Given the description of an element on the screen output the (x, y) to click on. 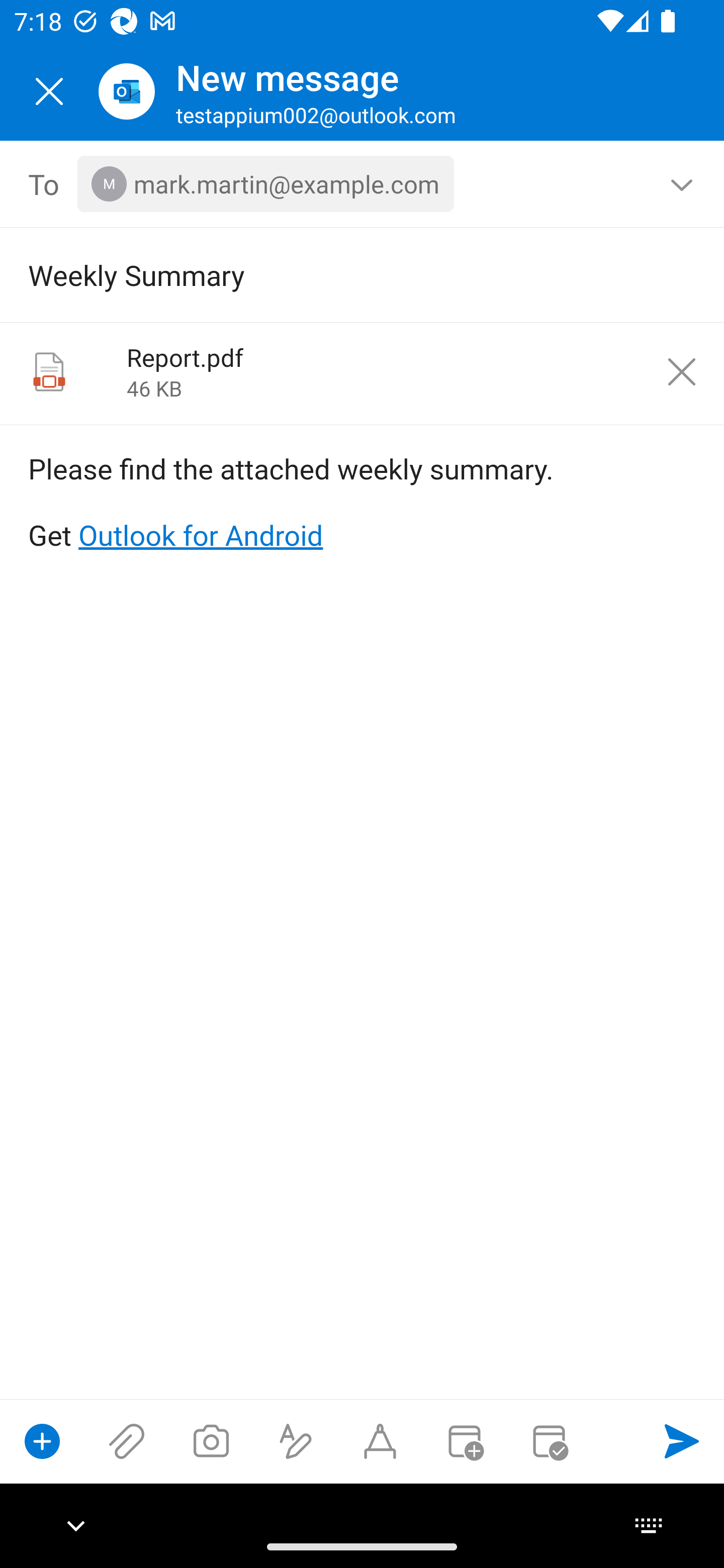
Close (49, 91)
To, 1 recipient <mark.martin@example.com> (362, 184)
Weekly Summary (333, 274)
Report.pdf 46 KB Remove attachment Report.pdf (362, 373)
Remove attachment Report.pdf (681, 372)
Show compose options (42, 1440)
Attach files (126, 1440)
Take a photo (210, 1440)
Show formatting options (295, 1440)
Start Ink compose (380, 1440)
Convert to event (464, 1440)
Send availability (548, 1440)
Send (681, 1440)
